Given the description of an element on the screen output the (x, y) to click on. 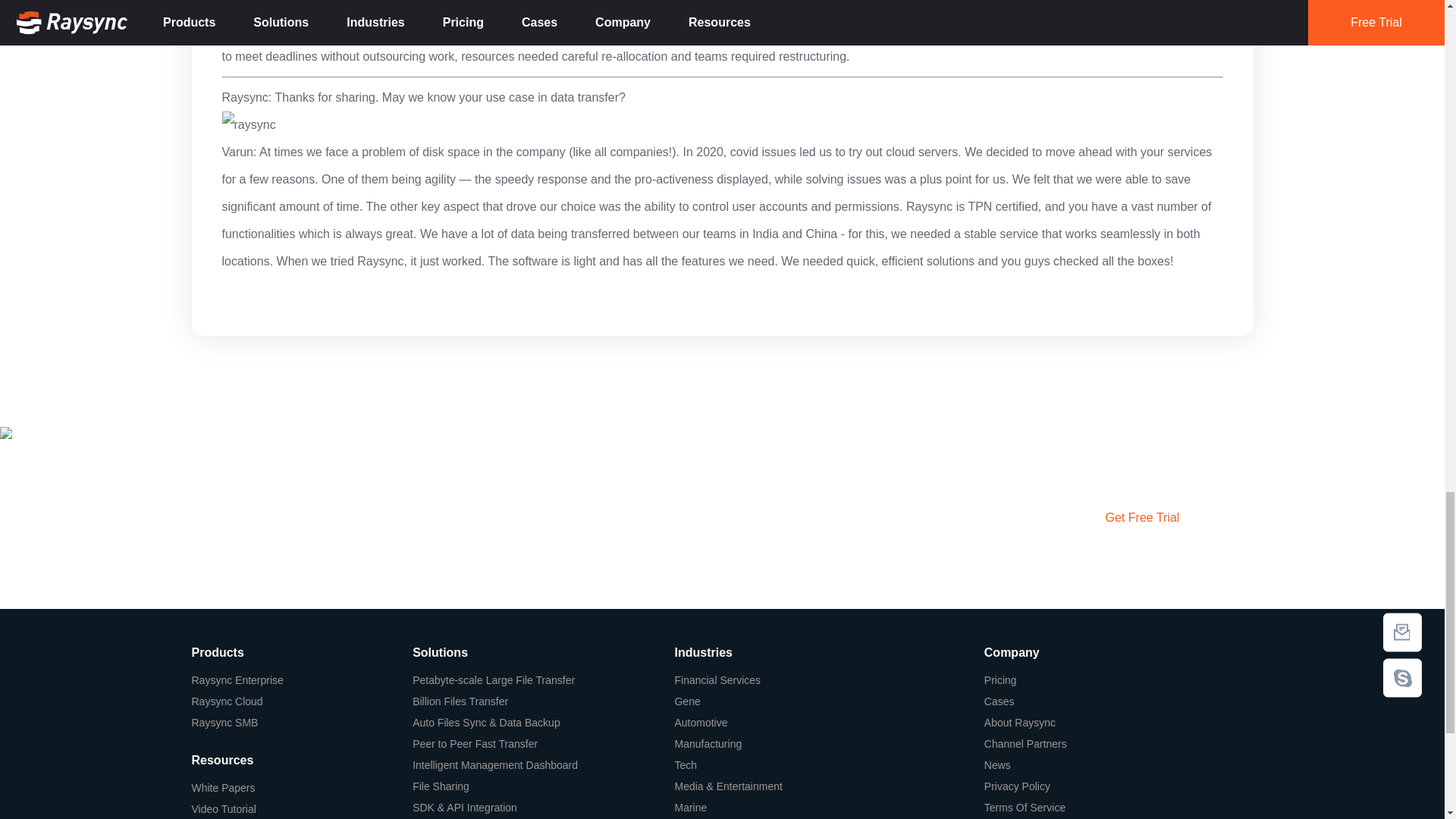
Get Free Trial (1141, 517)
